Given the description of an element on the screen output the (x, y) to click on. 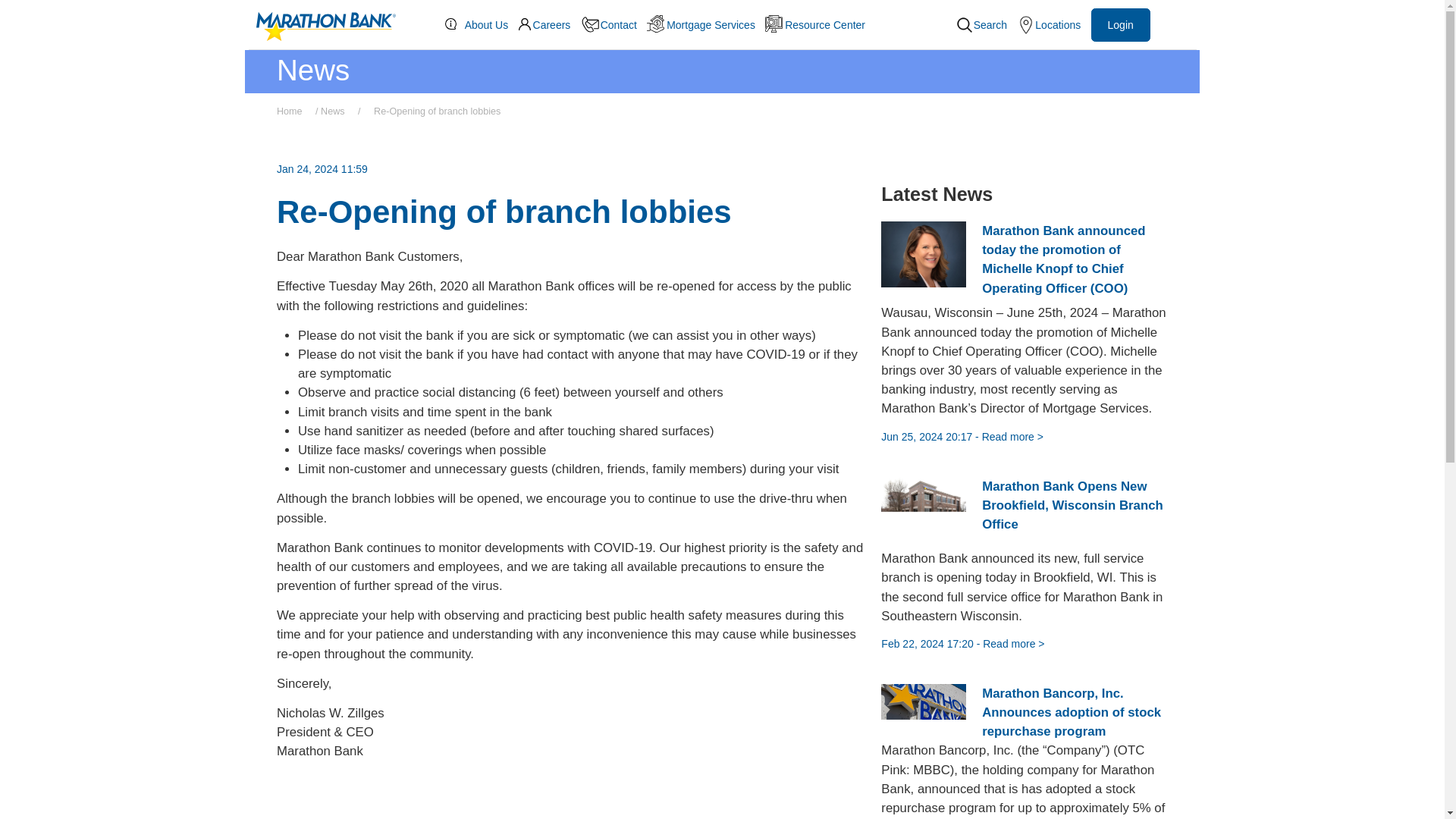
Marathon Bank Opens New Brookfield, Wisconsin Branch Office (1072, 513)
Resource Center (820, 24)
About Us (481, 24)
Mortgage Services (705, 24)
Locations (1053, 24)
News (337, 111)
Careers (549, 24)
Contact (613, 25)
Home (294, 111)
